Given the description of an element on the screen output the (x, y) to click on. 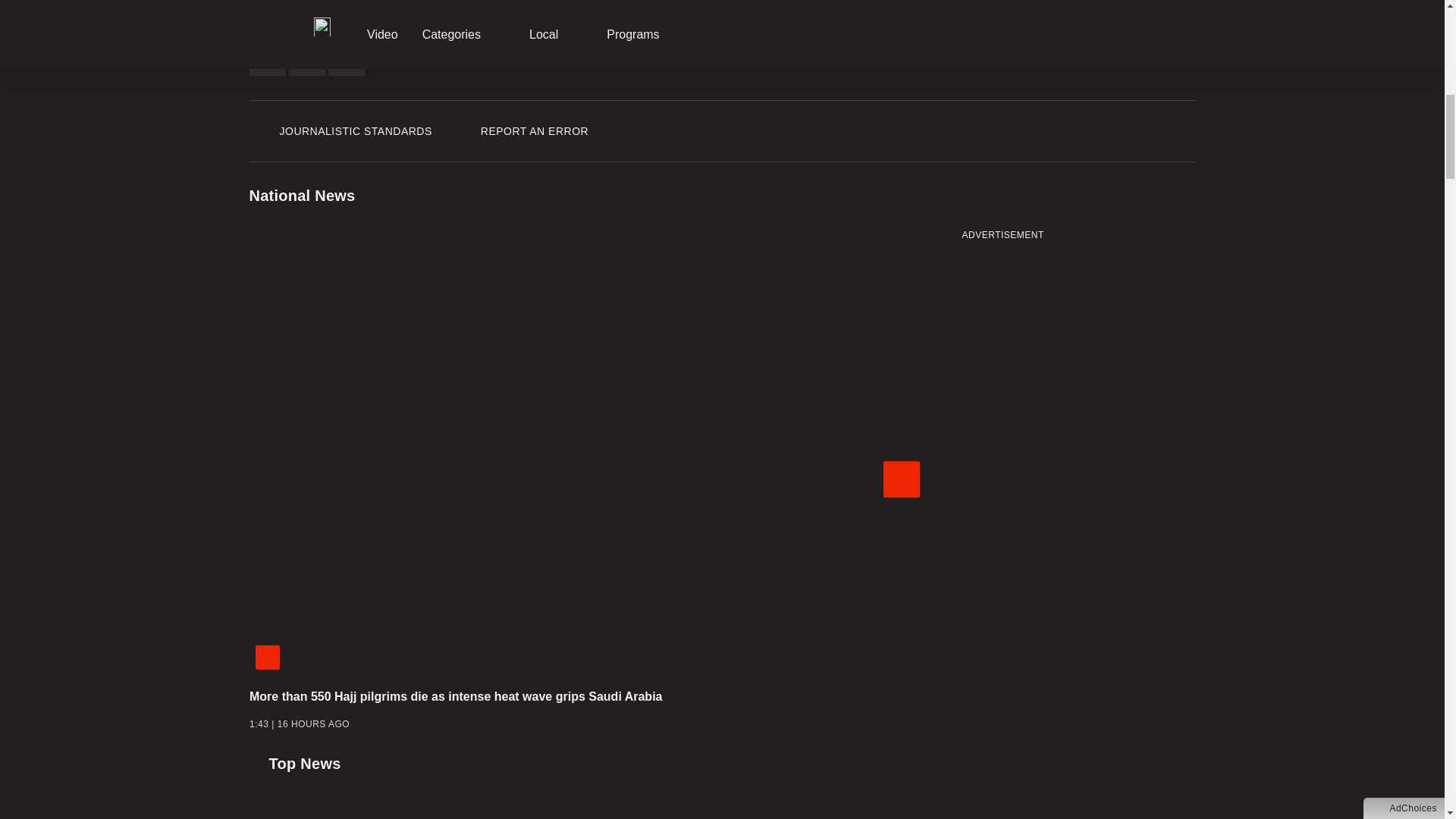
Edmonton Oilers fans delight in Game 5 win (1080, 624)
Adopt a Pet: A dog named Mama Stanley (1080, 323)
Cool Science: Uncovering the chemistry of the Alka-Seltzer (1080, 534)
